Given the description of an element on the screen output the (x, y) to click on. 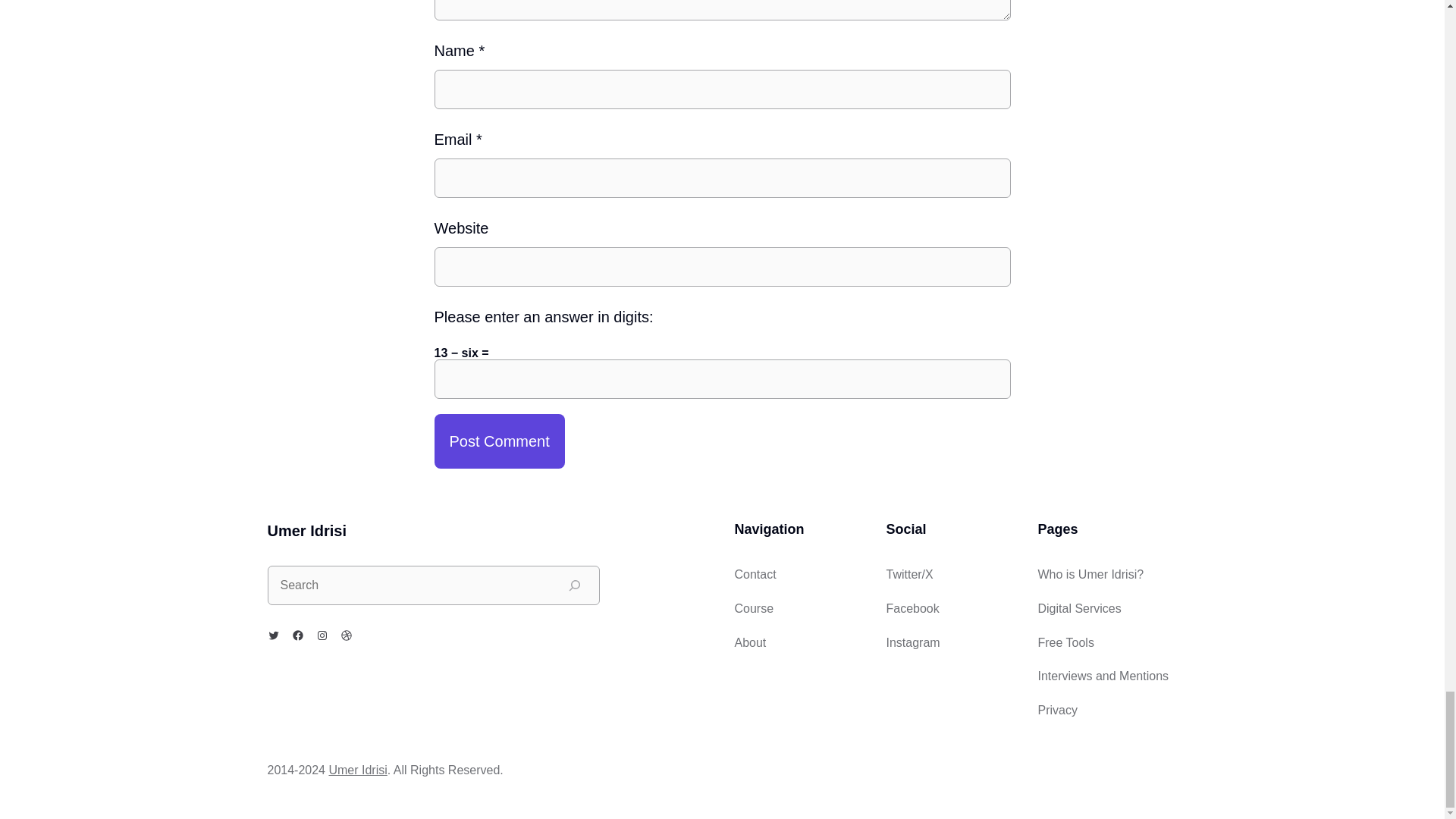
Instagram (912, 643)
Who is Umer Idrisi? (1089, 574)
Contact (754, 574)
Facebook (296, 635)
Interviews and Mentions (1102, 676)
Free Tools (1064, 643)
Post Comment (498, 441)
About (749, 643)
Facebook (912, 608)
Umer Idrisi (358, 769)
